Given the description of an element on the screen output the (x, y) to click on. 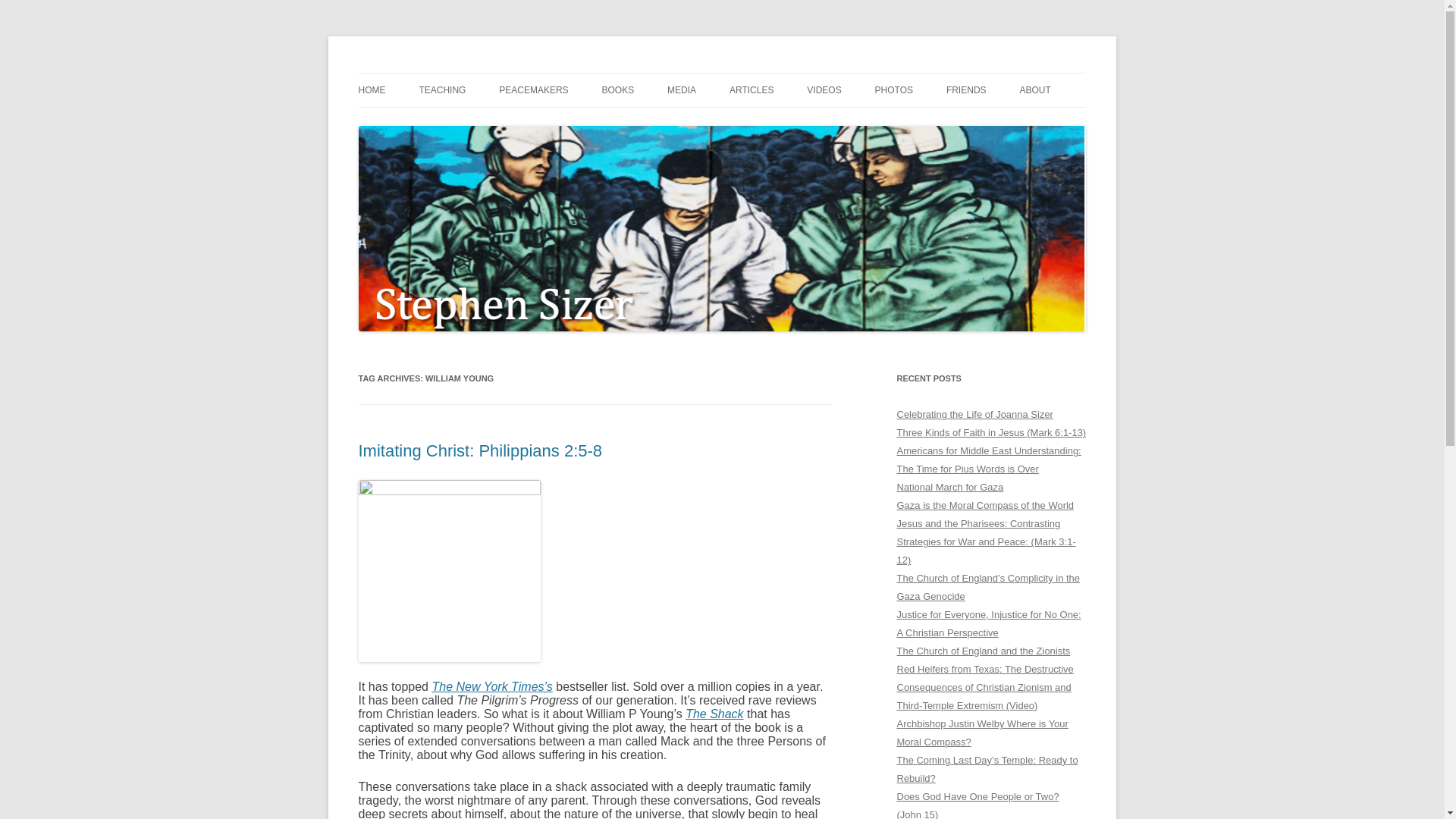
Gaza is the Moral Compass of the World (985, 505)
The Shack (713, 713)
BOOKS (618, 90)
Stephen Sizer (422, 72)
VIDEOS (823, 90)
PHOTOS (893, 90)
TEACHING (442, 90)
Celebrating the Life of Joanna Sizer (974, 414)
Stephen Sizer (422, 72)
National March for Gaza (949, 487)
ARTICLES (751, 90)
